Given the description of an element on the screen output the (x, y) to click on. 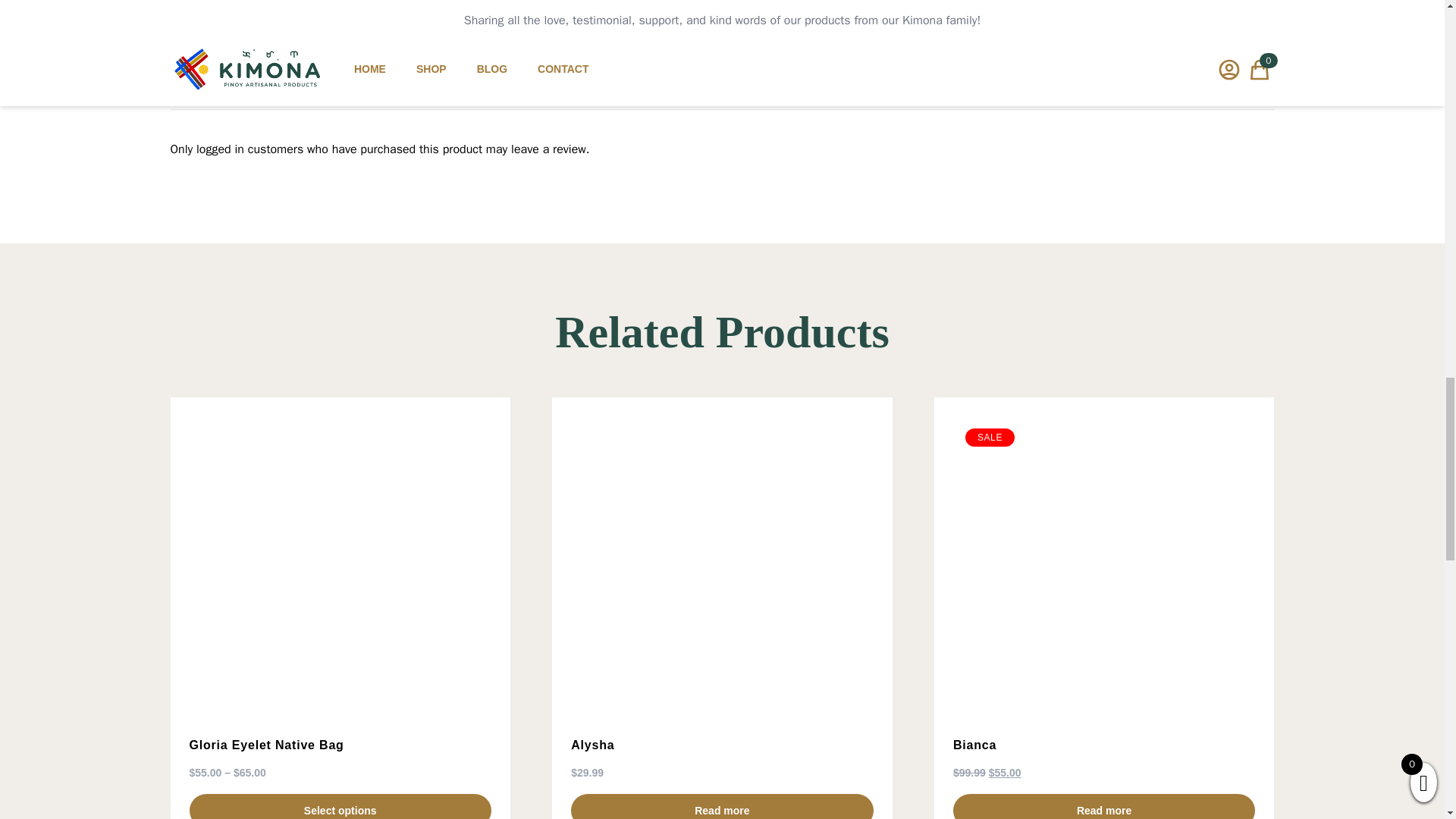
Select options (340, 806)
Read more (1104, 806)
Read more (721, 806)
